Given the description of an element on the screen output the (x, y) to click on. 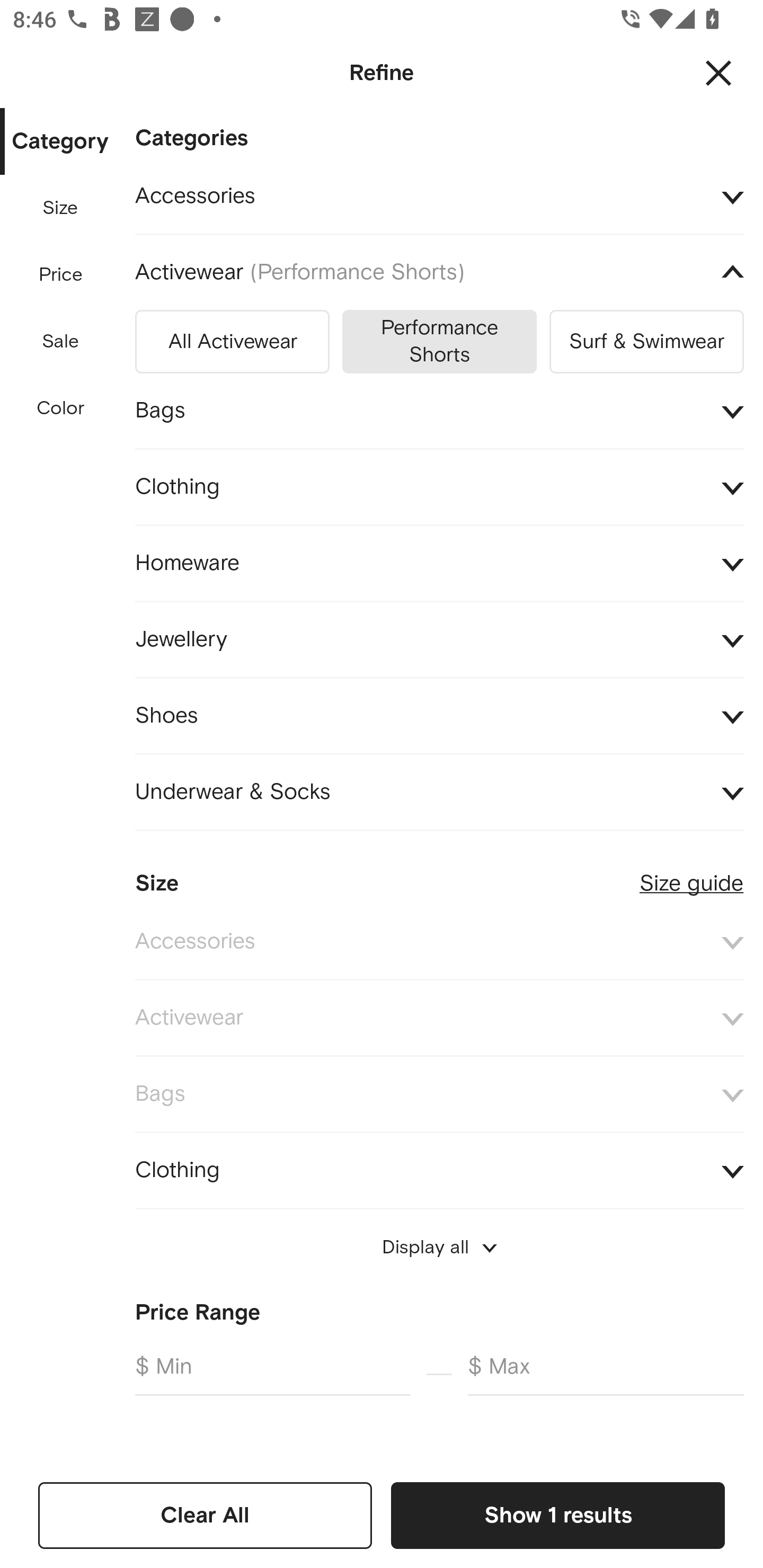
Category (60, 141)
Accessories (439, 196)
Size (60, 208)
Activewear (Performance Shorts) (439, 272)
Price (60, 274)
All Activewear (232, 338)
Performance Shorts (439, 338)
Surf & Swimwear (646, 338)
Sale (60, 342)
Color (60, 408)
Bags (439, 410)
Clothing (439, 486)
Homeware (439, 563)
Jewellery (439, 639)
Shoes (439, 715)
Underwear & Socks (439, 792)
Size guide (691, 875)
Accessories (439, 941)
Activewear (439, 1018)
Bags (439, 1094)
Clothing (439, 1170)
Display all (439, 1246)
$ Min (272, 1373)
$ Max (605, 1373)
Clear All (205, 1515)
Show 1 results (557, 1515)
